Given the description of an element on the screen output the (x, y) to click on. 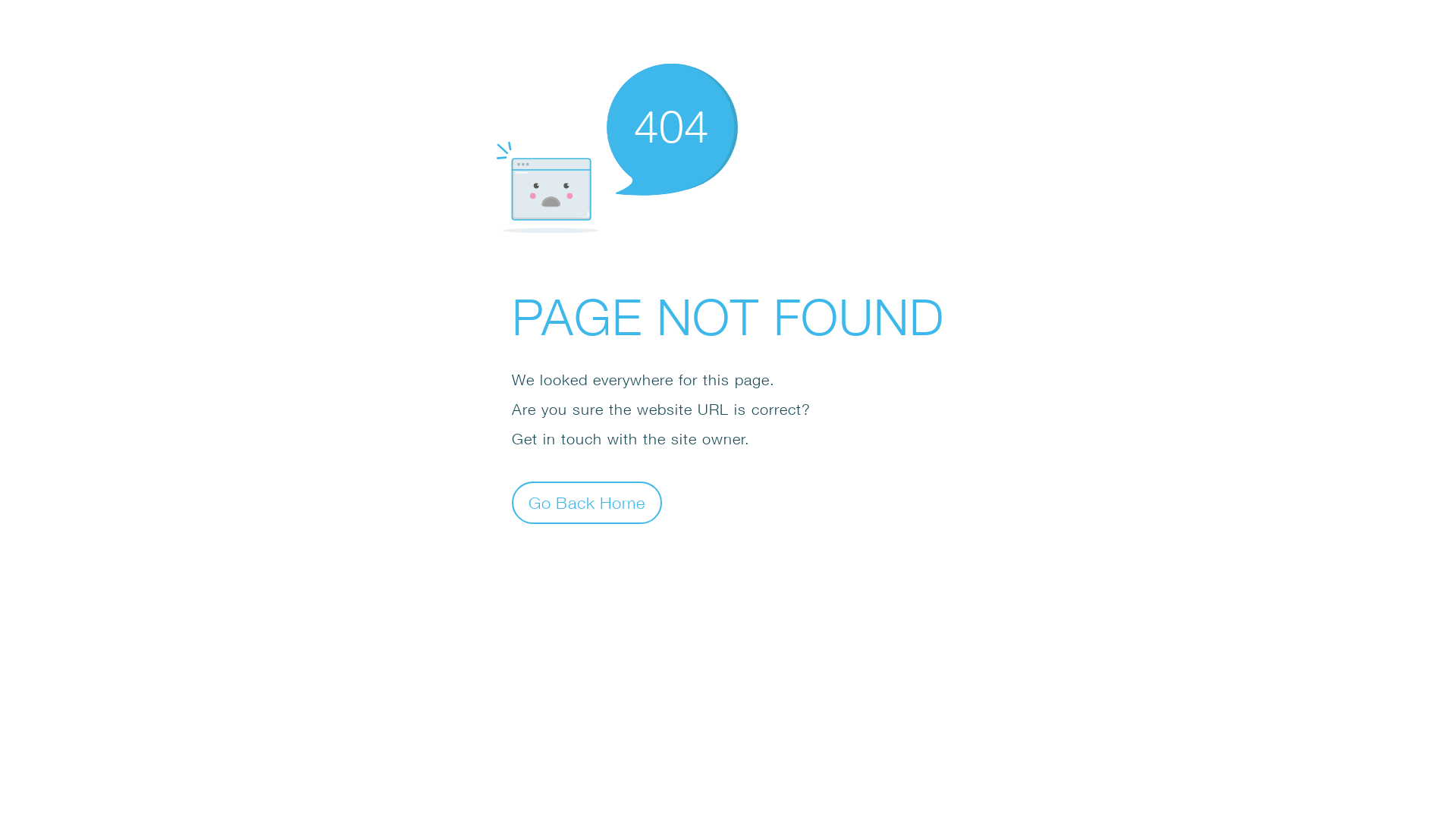
Go Back Home Element type: text (586, 502)
